Given the description of an element on the screen output the (x, y) to click on. 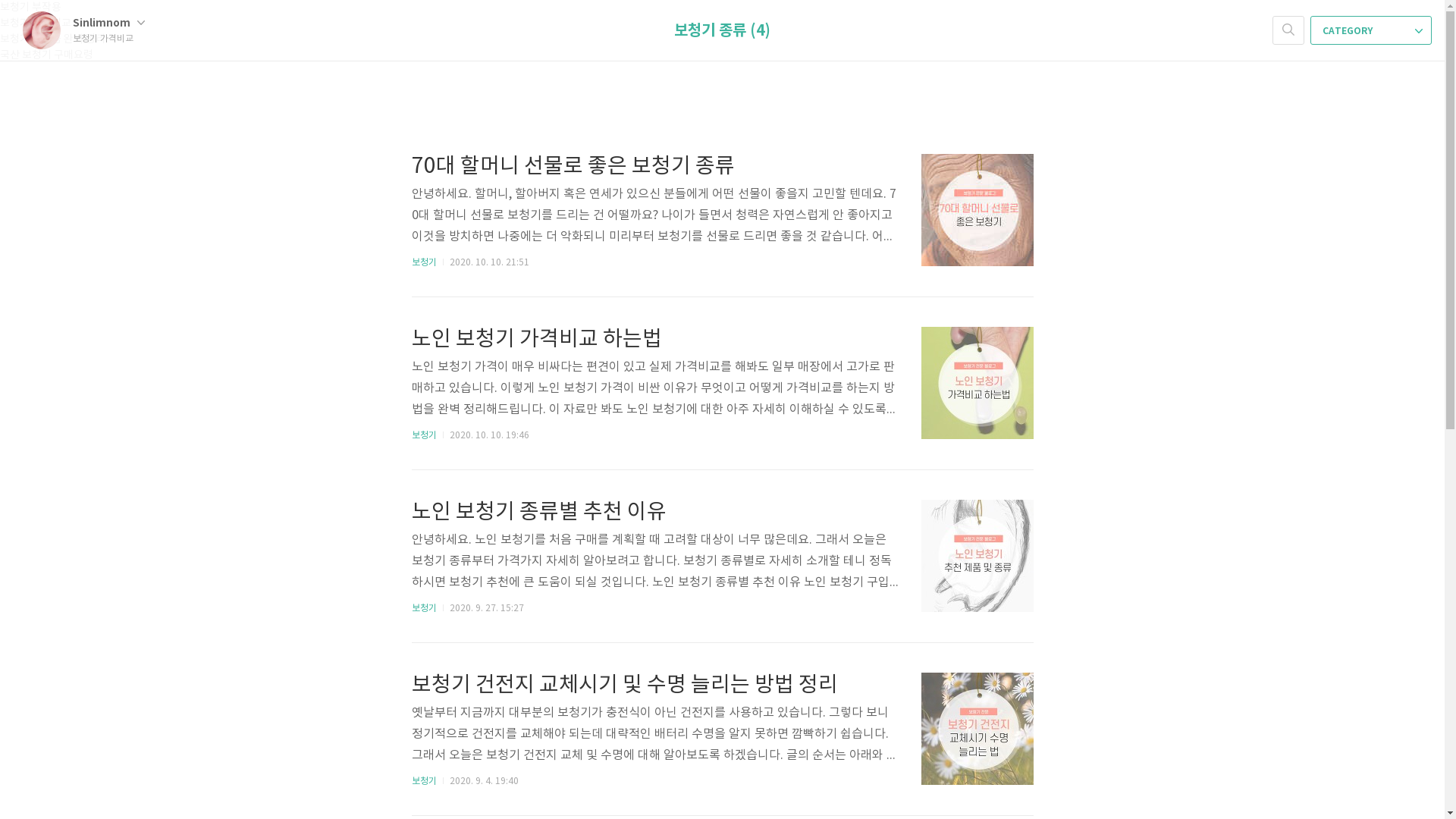
CATEGORY Element type: text (1370, 29)
Sinlimnom Element type: text (108, 23)
